Given the description of an element on the screen output the (x, y) to click on. 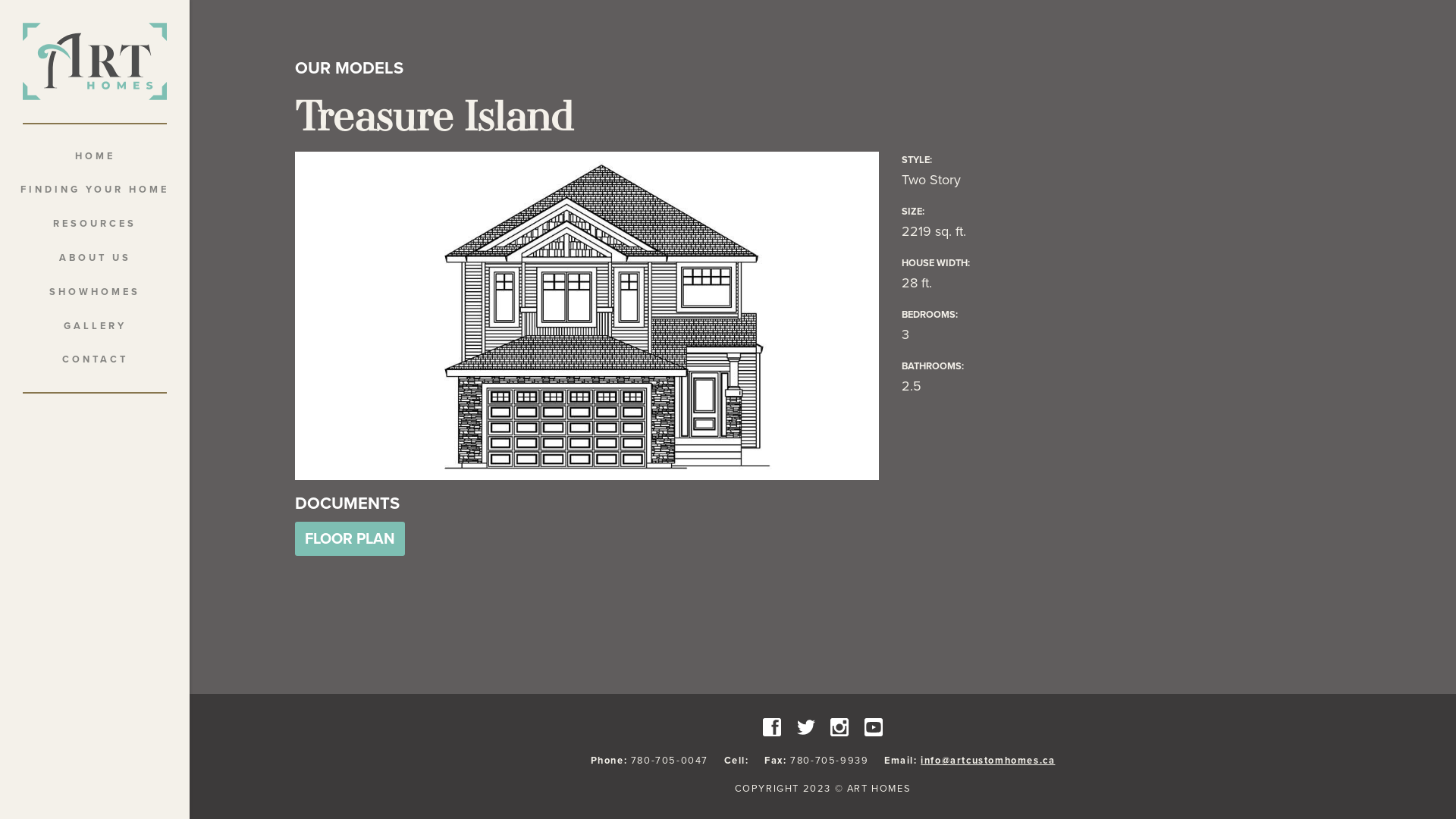
FLOOR PLAN Element type: text (349, 538)
GALLERY Element type: text (94, 326)
RESOURCES Element type: text (94, 224)
FINDING YOUR HOME Element type: text (94, 189)
HOME Element type: text (94, 156)
info@artcustomhomes.ca Element type: text (987, 760)
SHOWHOMES Element type: text (94, 292)
ABOUT US Element type: text (94, 258)
CONTACT Element type: text (94, 359)
